Given the description of an element on the screen output the (x, y) to click on. 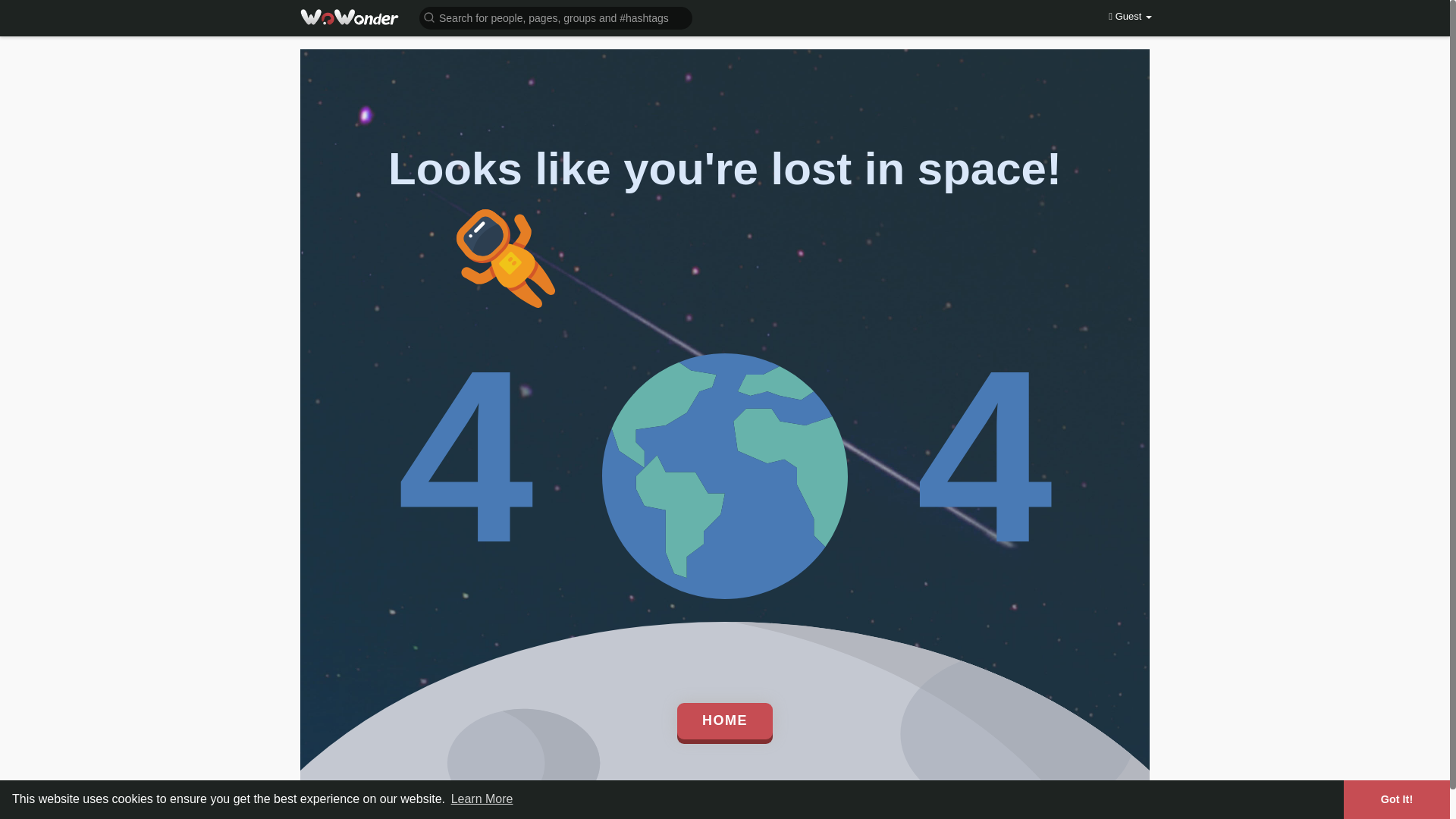
HOME (725, 720)
Guest (1129, 17)
Learn More (481, 798)
